Given the description of an element on the screen output the (x, y) to click on. 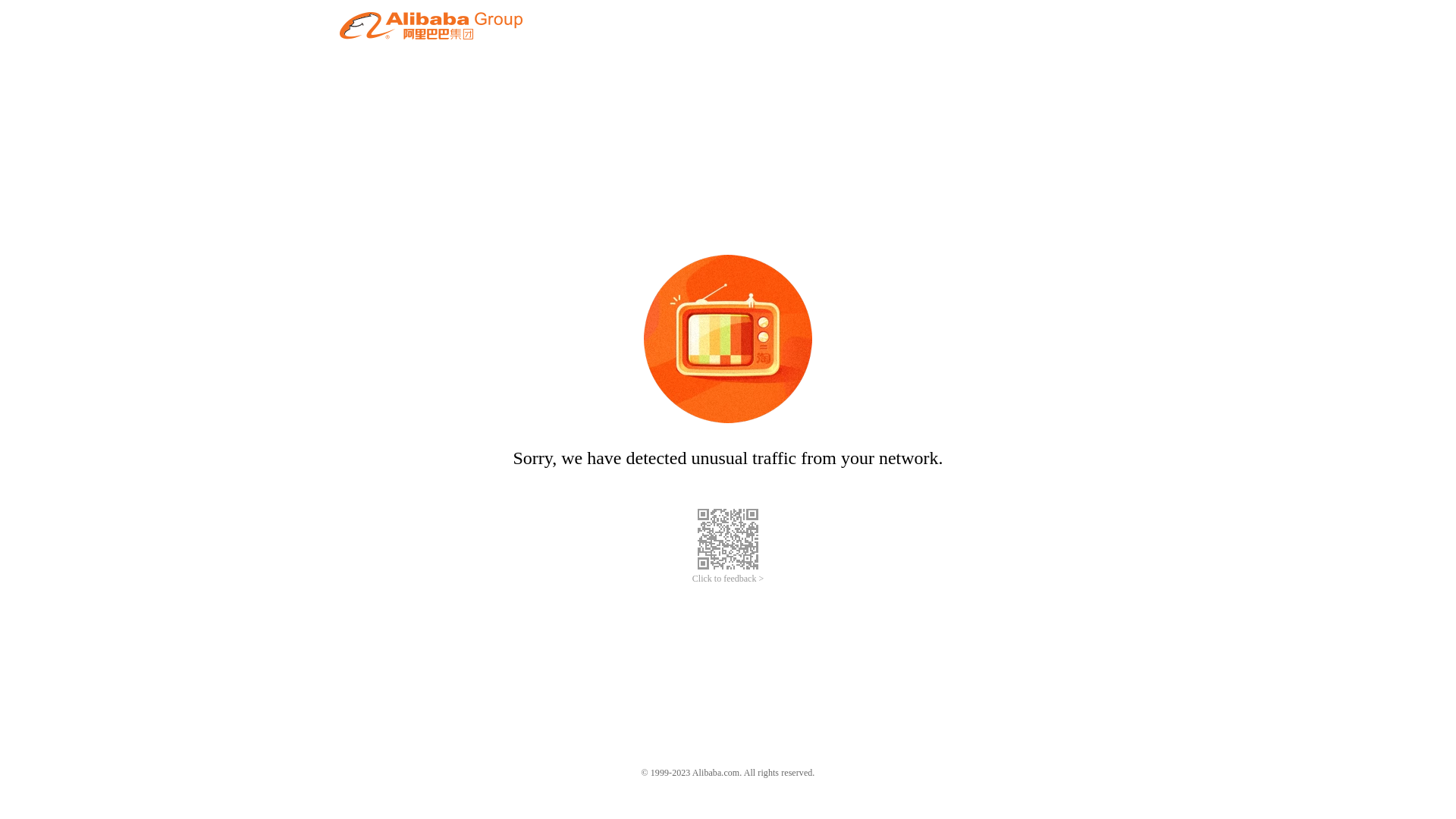
Click to feedback > Element type: text (727, 578)
